Given the description of an element on the screen output the (x, y) to click on. 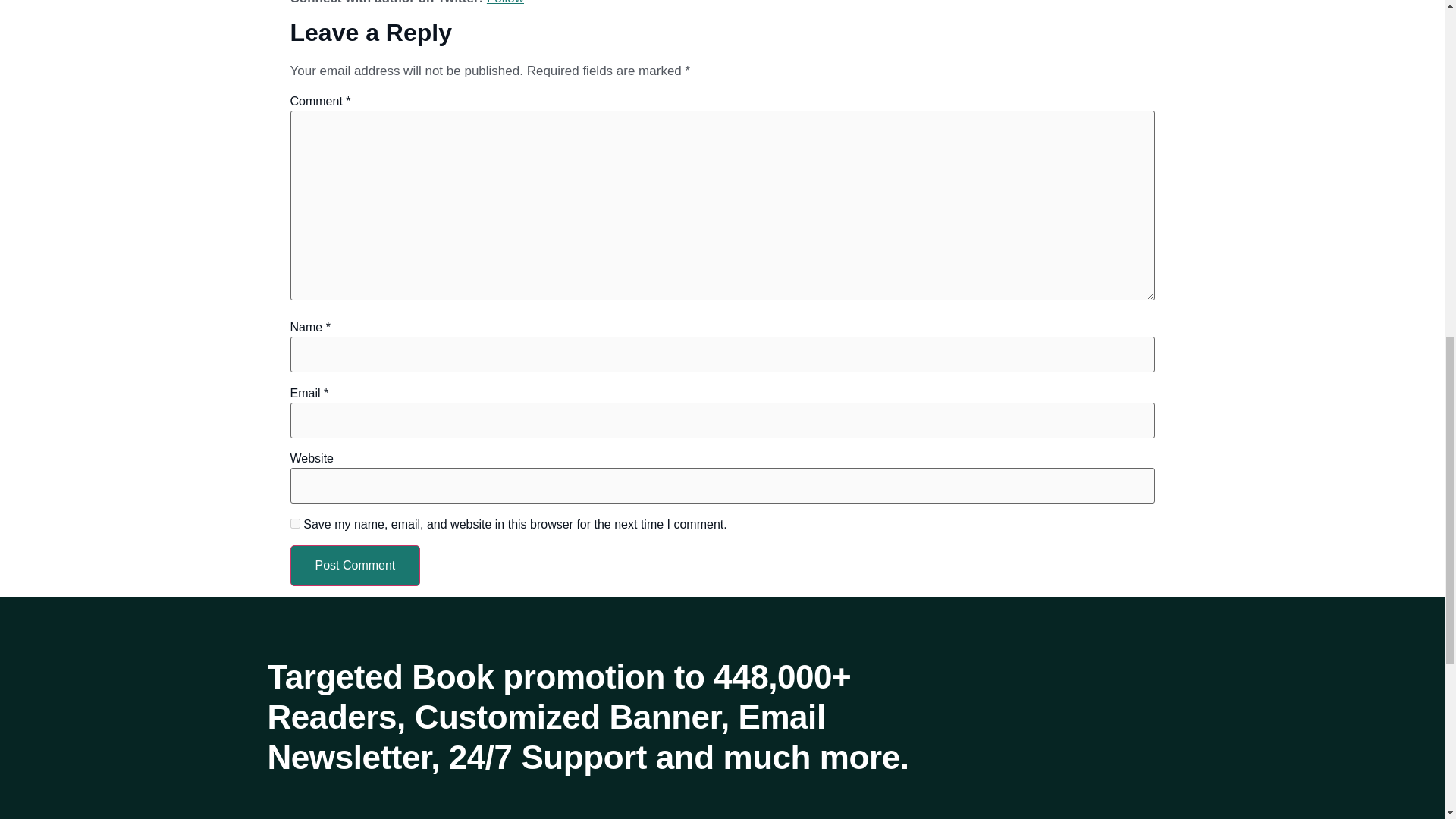
Post Comment (354, 565)
Post Comment (354, 565)
Follow (505, 2)
yes (294, 523)
